Given the description of an element on the screen output the (x, y) to click on. 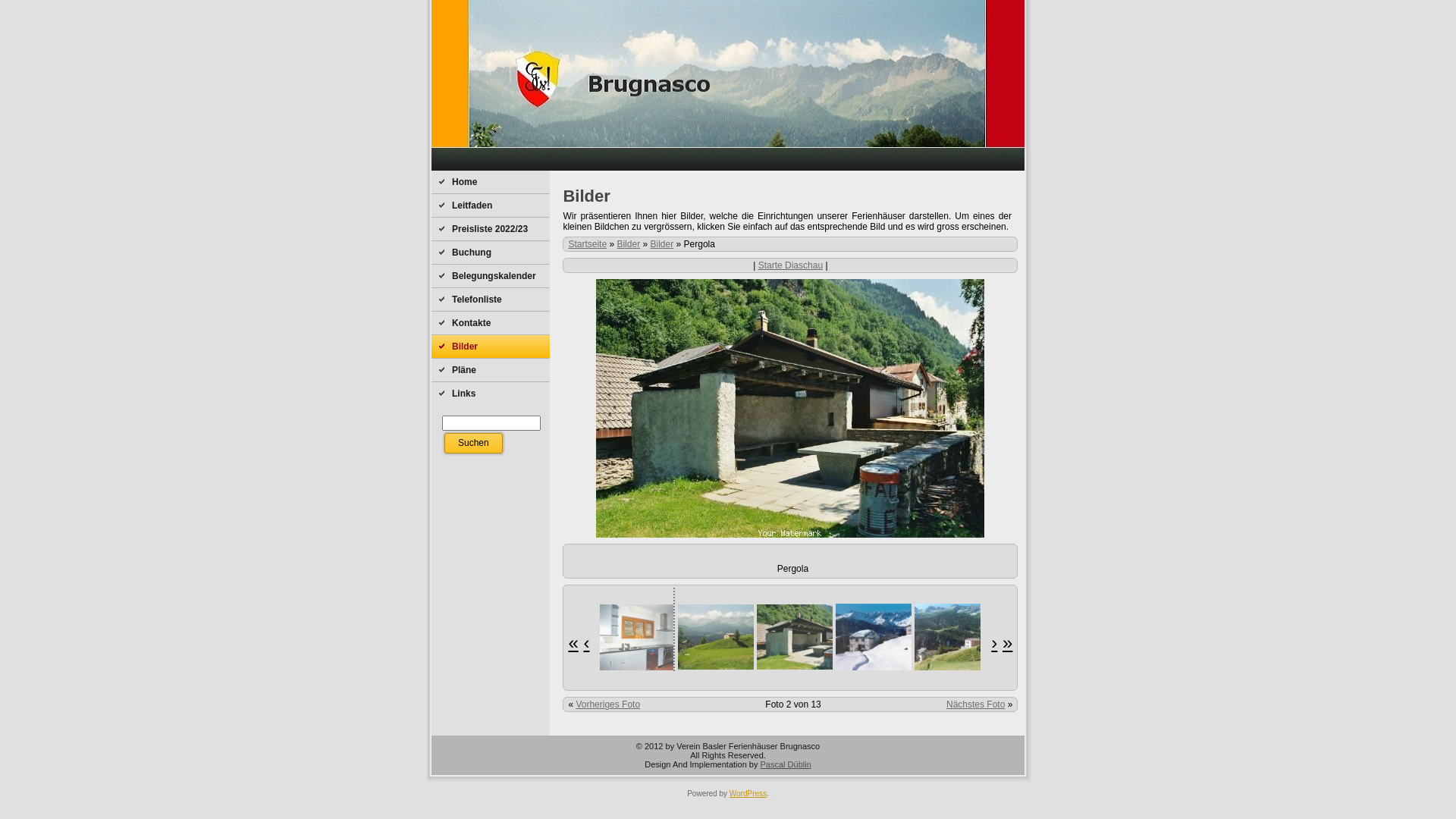
Bilder Element type: text (628, 243)
Bilder Element type: text (662, 243)
Buchung Element type: text (490, 252)
Suchen Element type: text (473, 442)
Doppelklick zum Starten/Stoppen der Slideshow Element type: hover (884, 636)
Bilder Element type: text (490, 346)
Preisliste 2022/23 Element type: text (490, 228)
Belegungskalender Element type: text (490, 275)
Links Element type: text (490, 393)
WordPress Element type: text (747, 793)
Doppelklick zum Starten/Stoppen der Slideshow Element type: hover (726, 636)
Foto 2 von 13 Element type: text (792, 704)
Telefonliste Element type: text (490, 299)
Bilder Element type: text (585, 195)
Vorheriges Foto Element type: text (607, 704)
Doppelklick zum Starten/Stoppen der Slideshow Element type: hover (643, 637)
Leitfaden Element type: text (490, 205)
Home Element type: text (490, 181)
Kontakte Element type: text (490, 322)
Doppelklick zum Starten/Stoppen der Slideshow Element type: hover (805, 636)
Doppelklick zum Starten/Stoppen der Slideshow Element type: hover (564, 637)
Startseite Element type: text (586, 243)
Pergola Element type: hover (790, 408)
Starte Diaschau Element type: text (790, 265)
Doppelklick zum Starten/Stoppen der Slideshow Element type: hover (963, 636)
